Given the description of an element on the screen output the (x, y) to click on. 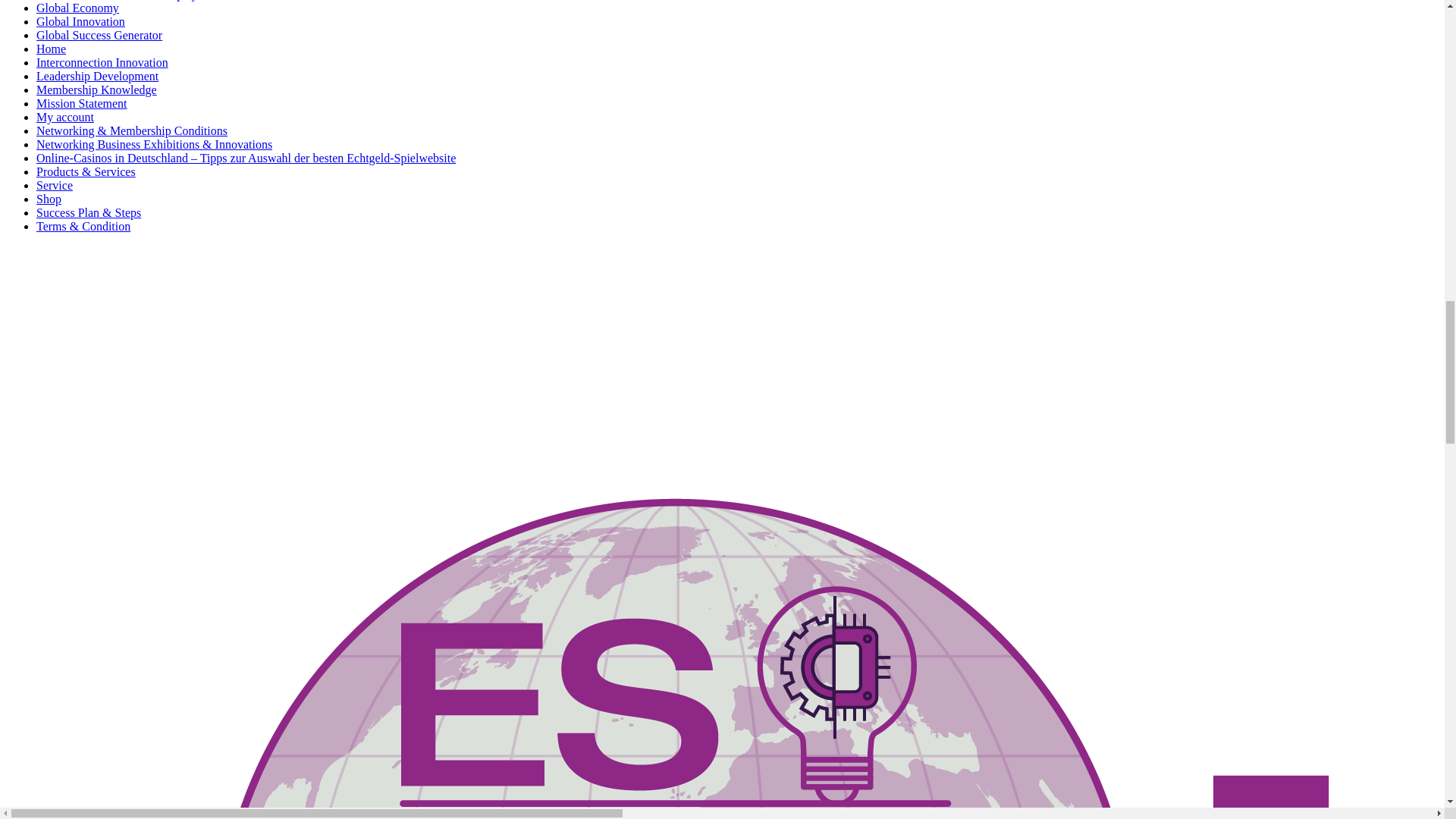
Global Economy (77, 7)
Home (50, 48)
Interconnection Innovation (102, 62)
Global Innovation (80, 21)
Shop (48, 198)
My account (65, 116)
Membership Knowledge (96, 89)
Leadership Development (97, 75)
Mission Statement (82, 103)
Global Success Generator (98, 34)
